Given the description of an element on the screen output the (x, y) to click on. 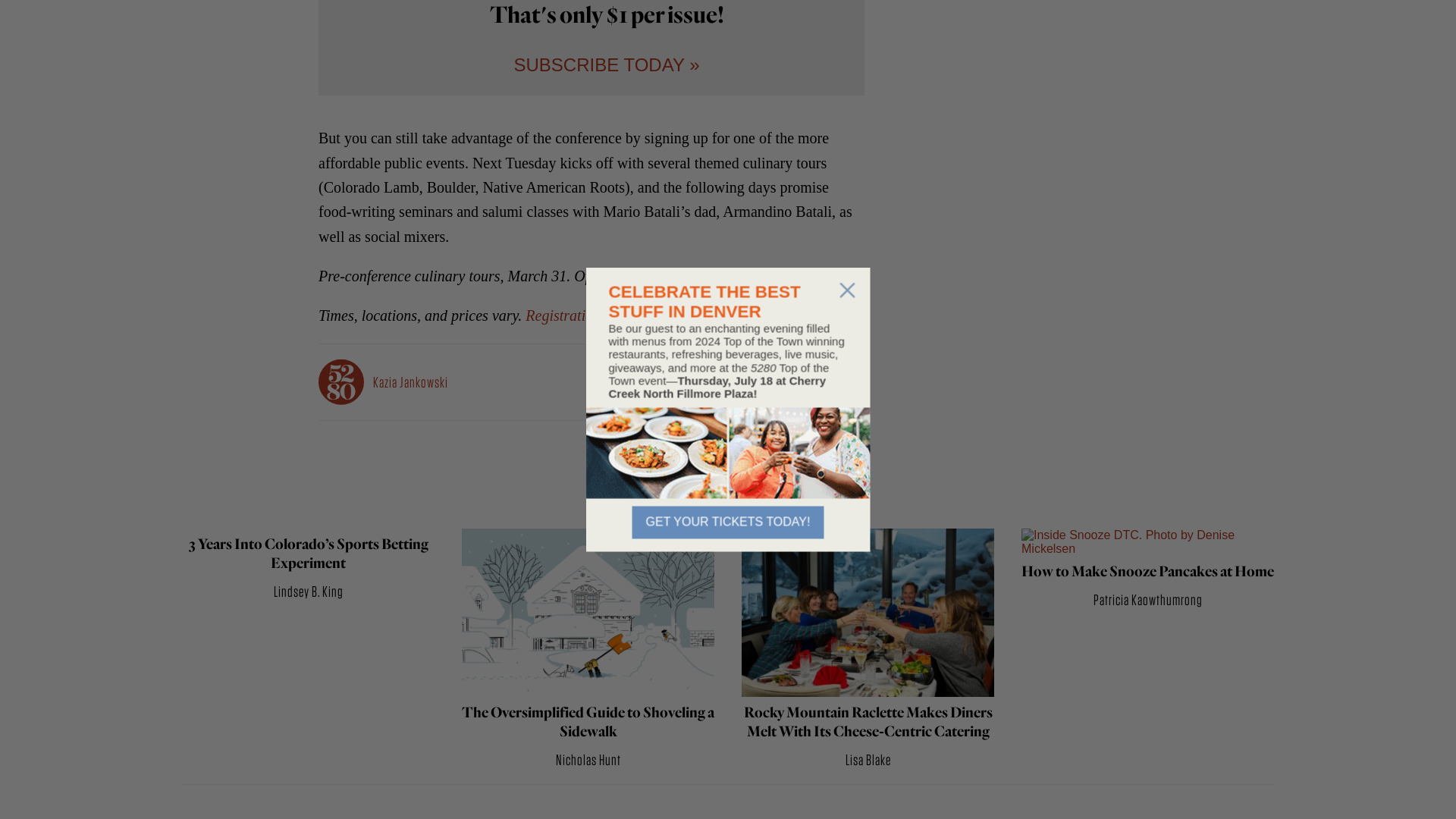
3rd party ad content (1023, 30)
